Given the description of an element on the screen output the (x, y) to click on. 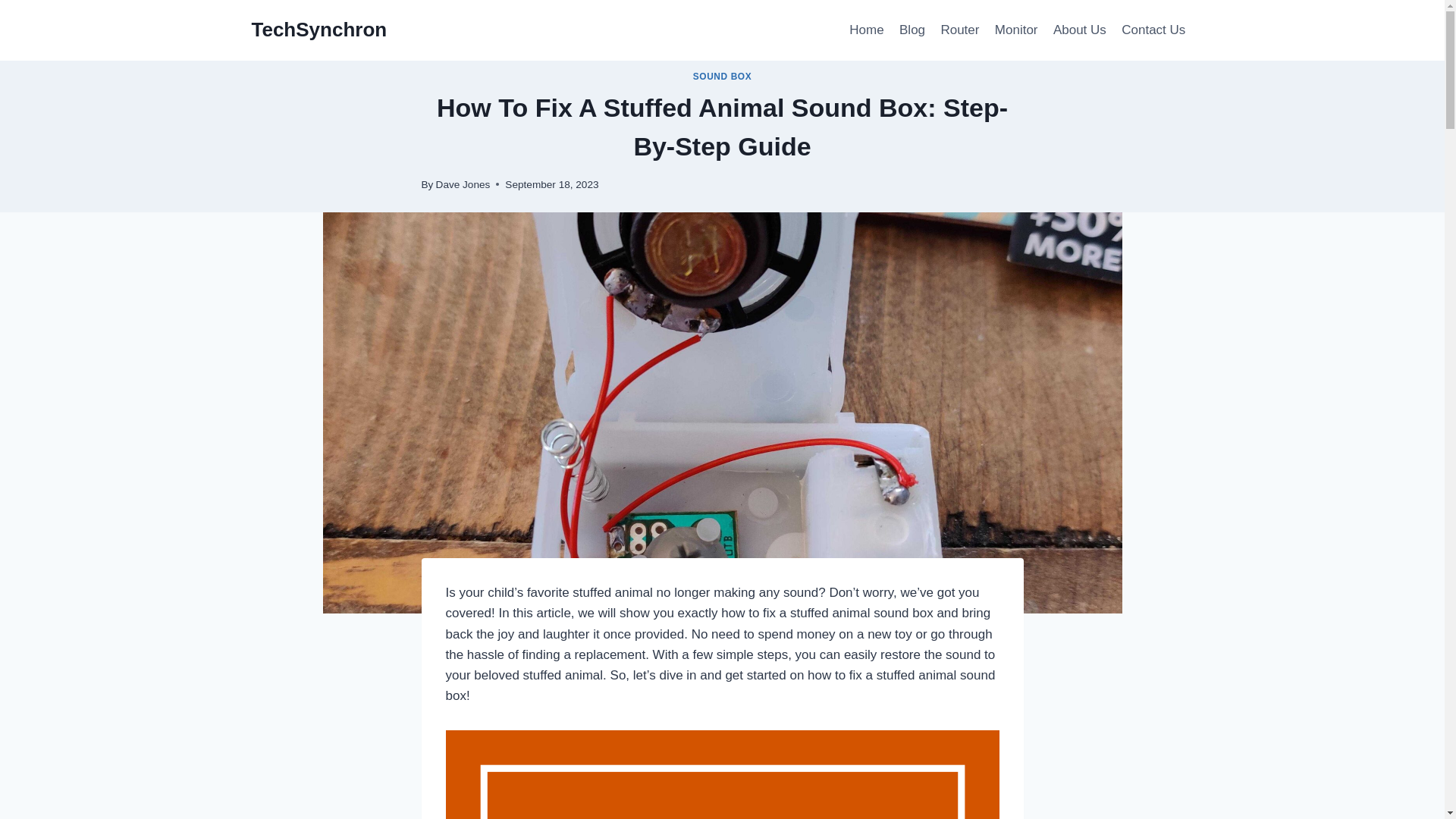
Dave Jones (462, 184)
TechSynchron (319, 29)
Router (960, 30)
Home (866, 30)
SOUND BOX (722, 76)
Monitor (1016, 30)
Blog (912, 30)
Contact Us (1152, 30)
About Us (1079, 30)
